Given the description of an element on the screen output the (x, y) to click on. 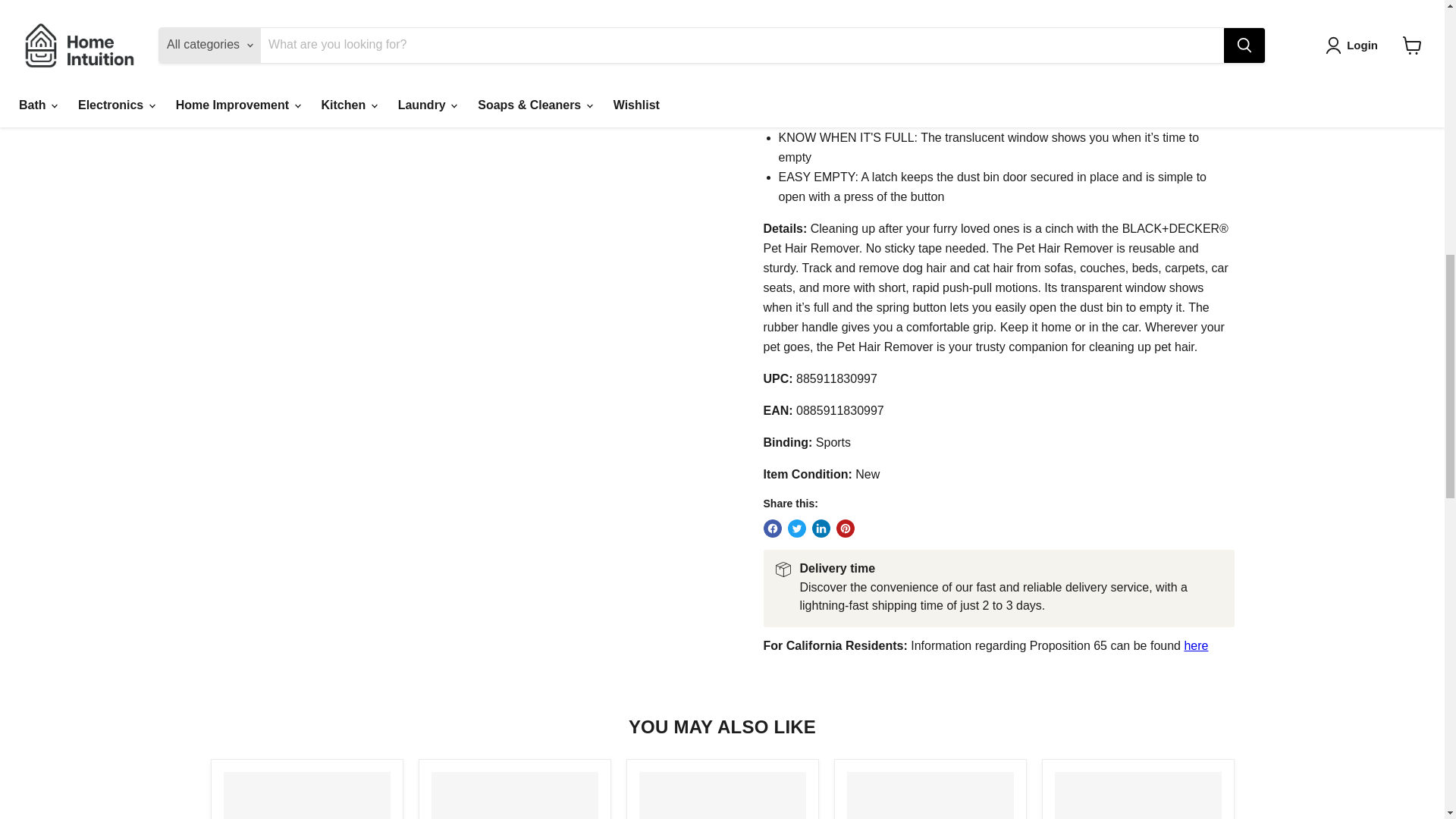
Proposition 65 (1195, 645)
